Given the description of an element on the screen output the (x, y) to click on. 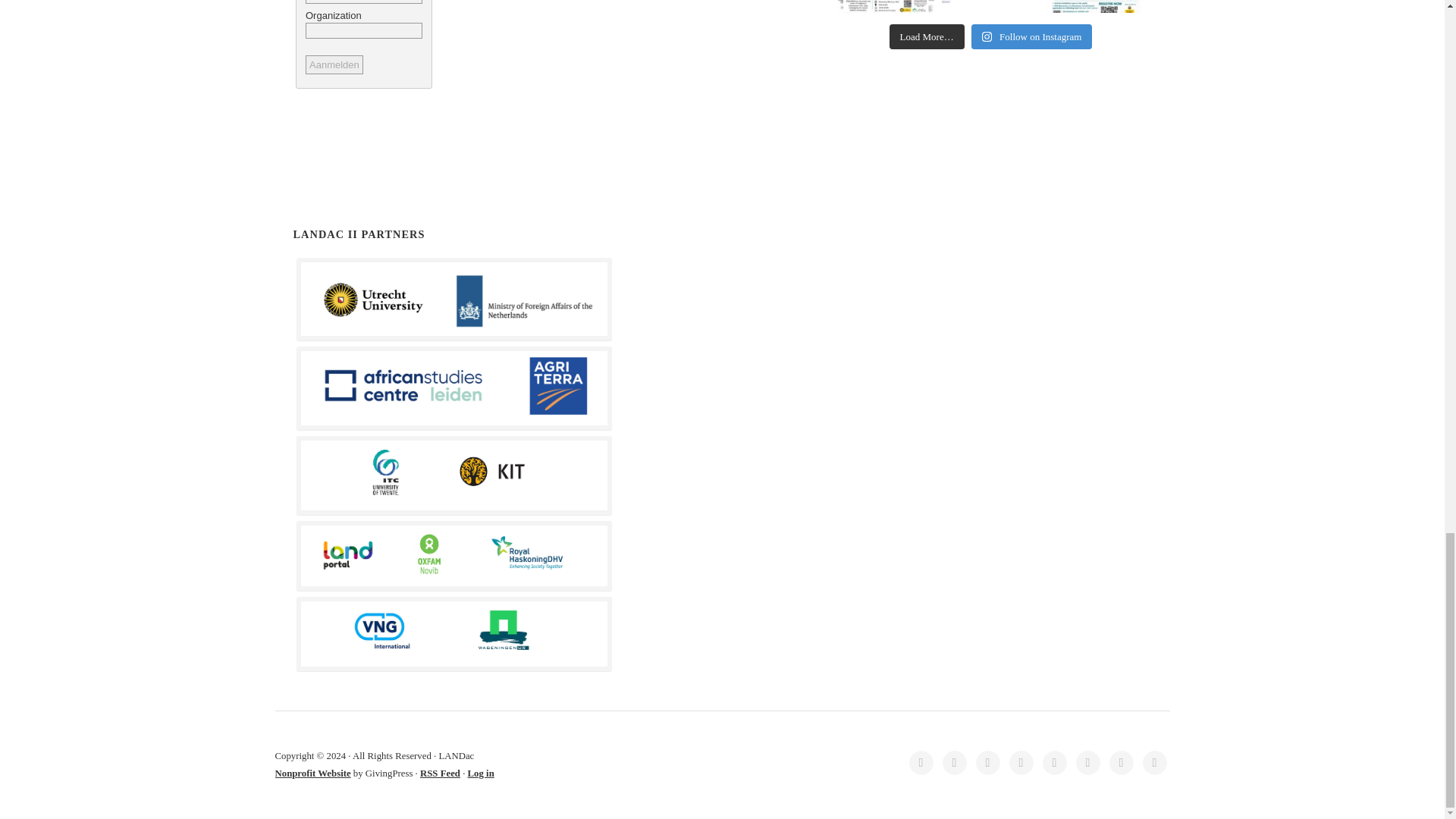
Spotify Embed: LANDac Songs of Our Lands (542, 78)
